Given the description of an element on the screen output the (x, y) to click on. 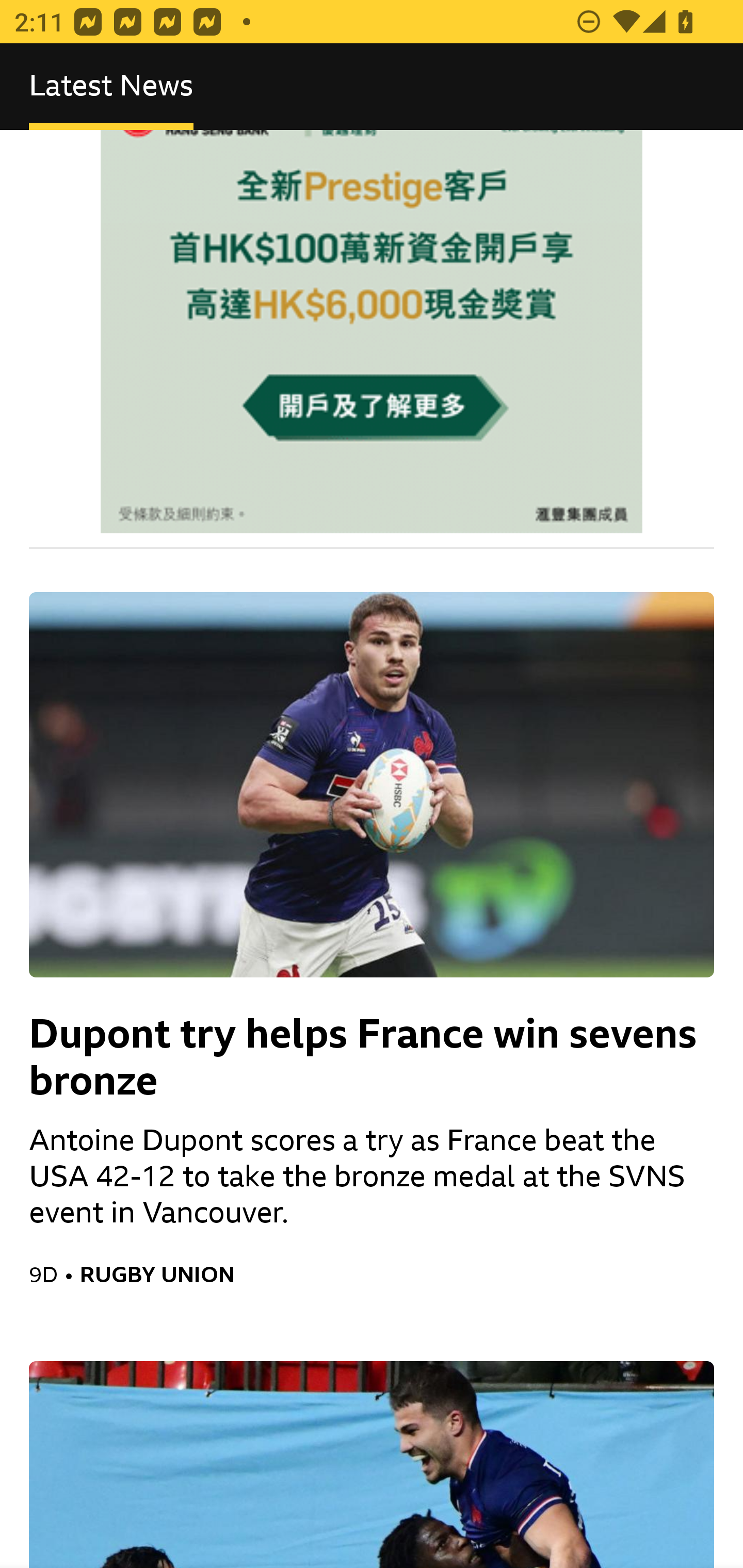
Latest News, selected Latest News (111, 86)
Advertisement (371, 331)
Advertisement (371, 331)
